Given the description of an element on the screen output the (x, y) to click on. 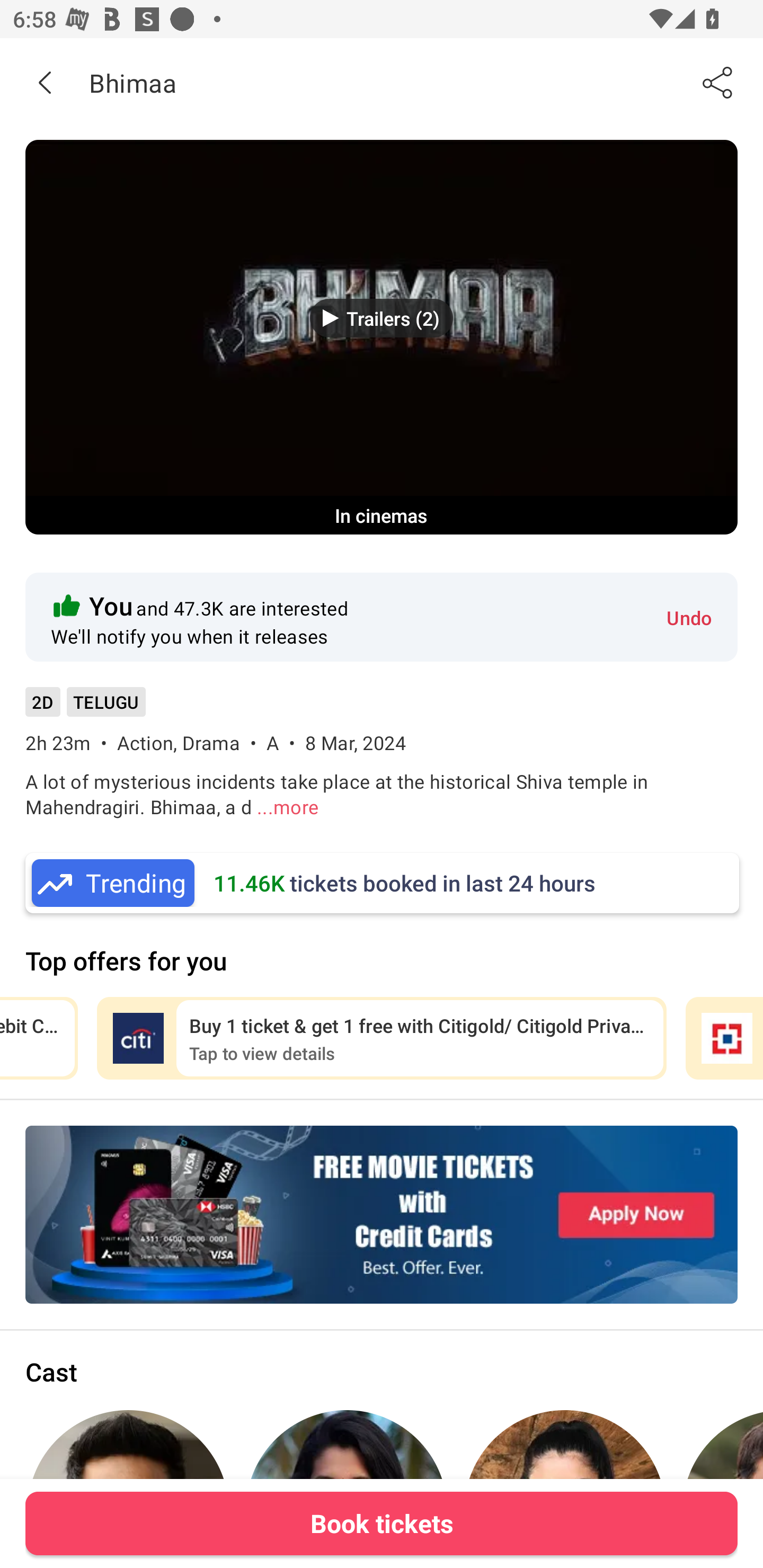
Back (44, 82)
Share (718, 82)
Movie Banner Trailers (2) In cinemas (381, 336)
Trailers (2) (381, 318)
Undo (688, 616)
2D TELUGU (85, 707)
Book tickets (381, 1523)
